Given the description of an element on the screen output the (x, y) to click on. 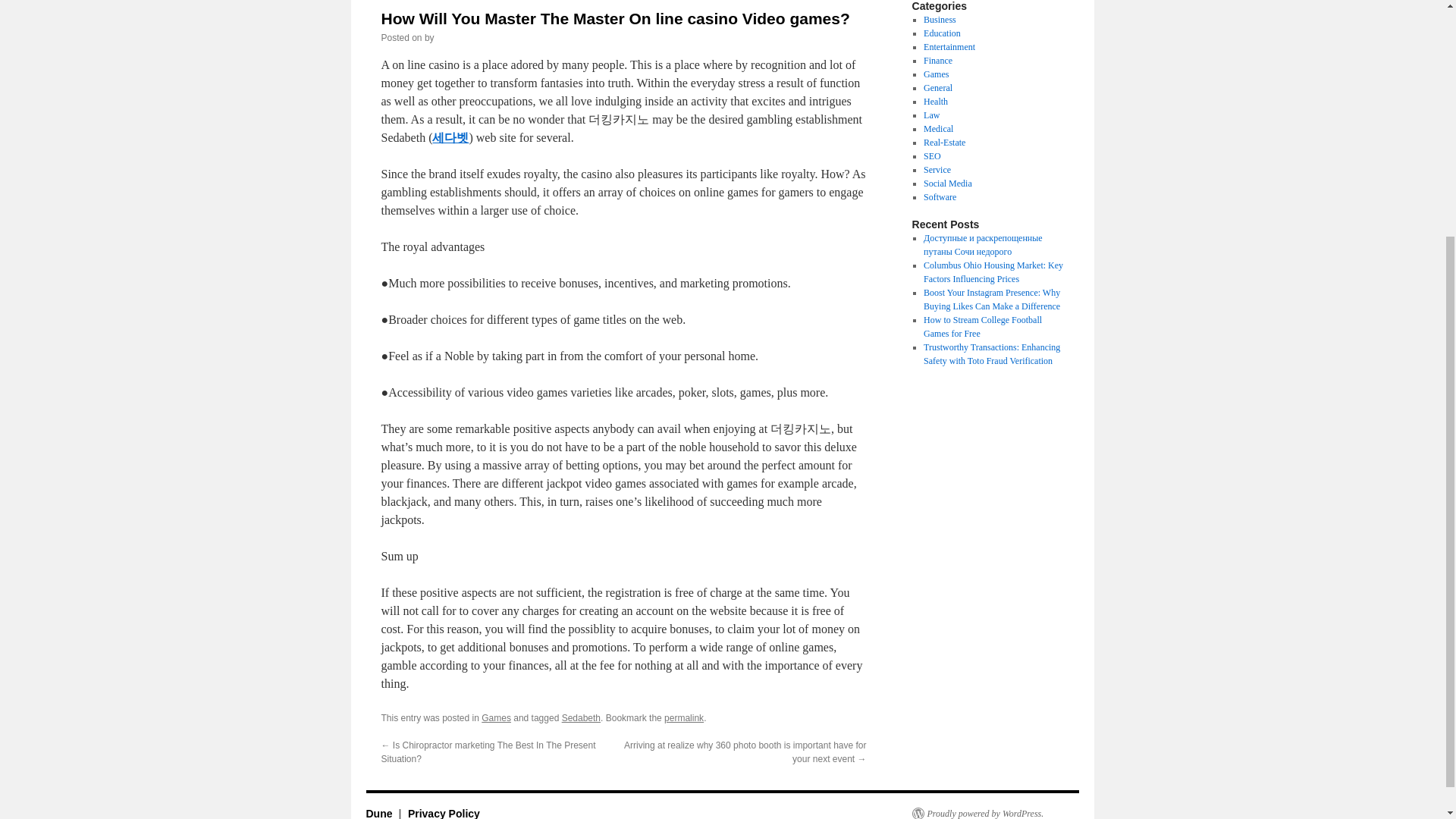
How to Stream College Football Games for Free (982, 326)
Software (939, 196)
permalink (683, 717)
Columbus Ohio Housing Market: Key Factors Influencing Prices (992, 272)
Real-Estate (944, 142)
Finance (937, 60)
Service (936, 169)
Business (939, 19)
Law (931, 114)
Games (936, 73)
General (937, 87)
Medical (938, 128)
